Given the description of an element on the screen output the (x, y) to click on. 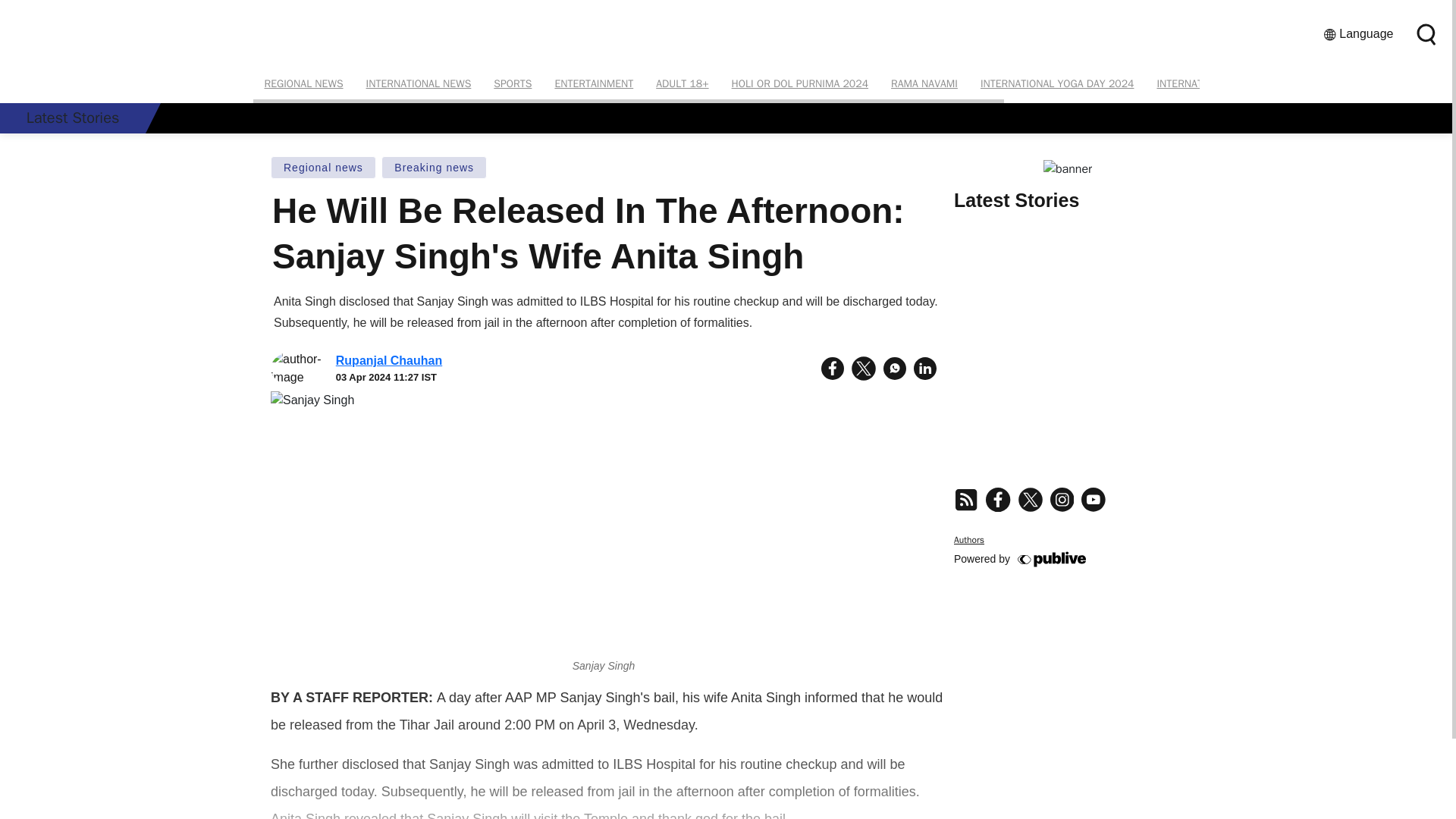
INTERNATIONAL YOGA DAY 2024 (1057, 83)
Authors (968, 539)
SPORTS (512, 83)
ENTERTAINMENT (594, 83)
RAMA NAVAMI (924, 83)
Regional news (322, 167)
HOLI OR DOL PURNIMA 2024 (799, 83)
INTERNATIONAL WOMEN'S DAY (1229, 83)
PAHELA BAISAKH 1431 (1379, 83)
Language (1358, 34)
